Given the description of an element on the screen output the (x, y) to click on. 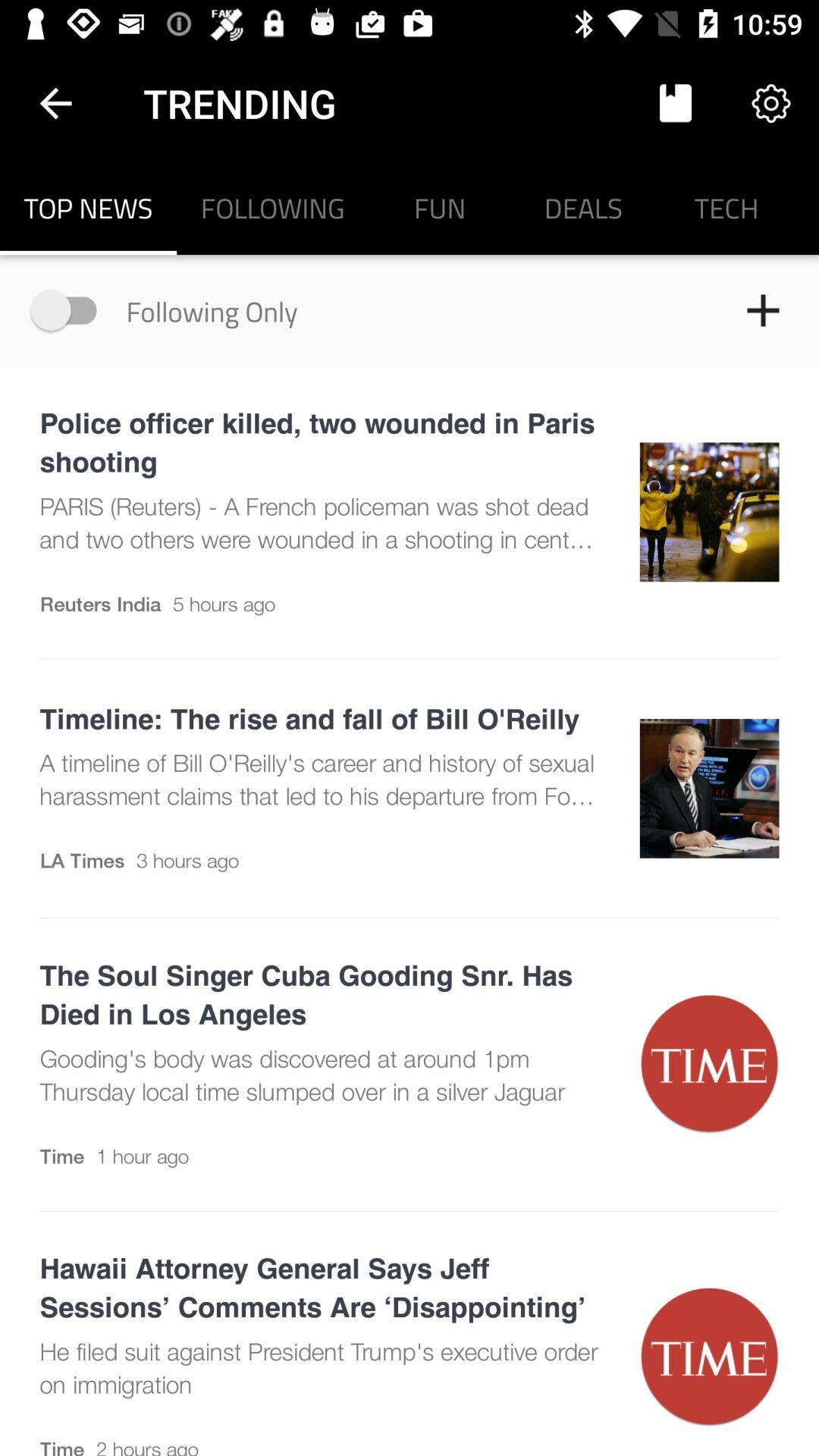
toggle following only option (70, 310)
